Given the description of an element on the screen output the (x, y) to click on. 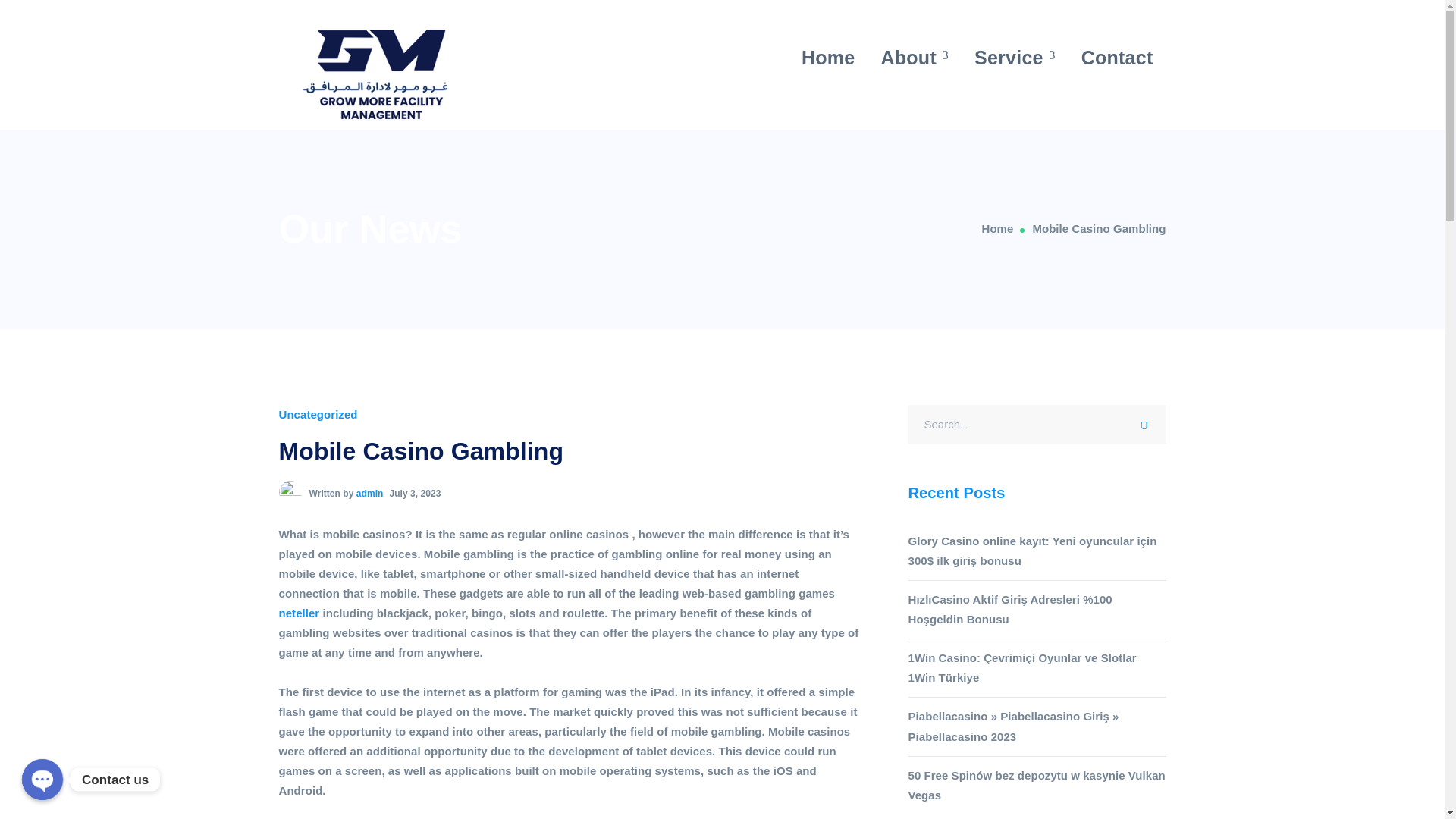
Search (1148, 421)
View all posts by admin (370, 493)
SEARCH (1148, 421)
Home (1006, 229)
admin (370, 493)
About (914, 57)
GROW MORE FACILITY MANAGEMENT (381, 73)
Service (1014, 57)
neteller (299, 612)
Contact (1117, 57)
Search for: (1037, 424)
Uncategorized (318, 413)
